Given the description of an element on the screen output the (x, y) to click on. 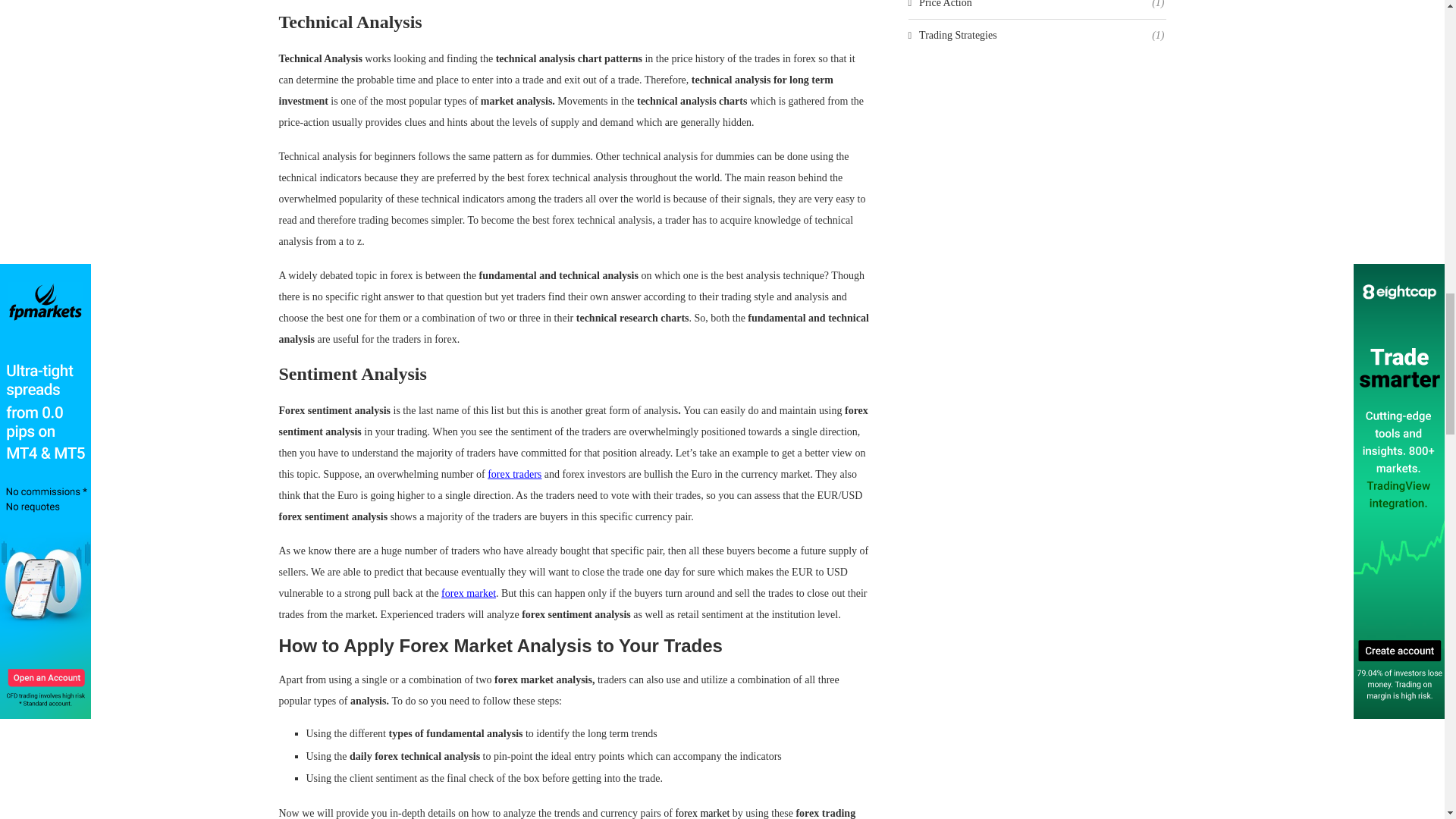
forex traders (515, 473)
forex market (468, 593)
